Given the description of an element on the screen output the (x, y) to click on. 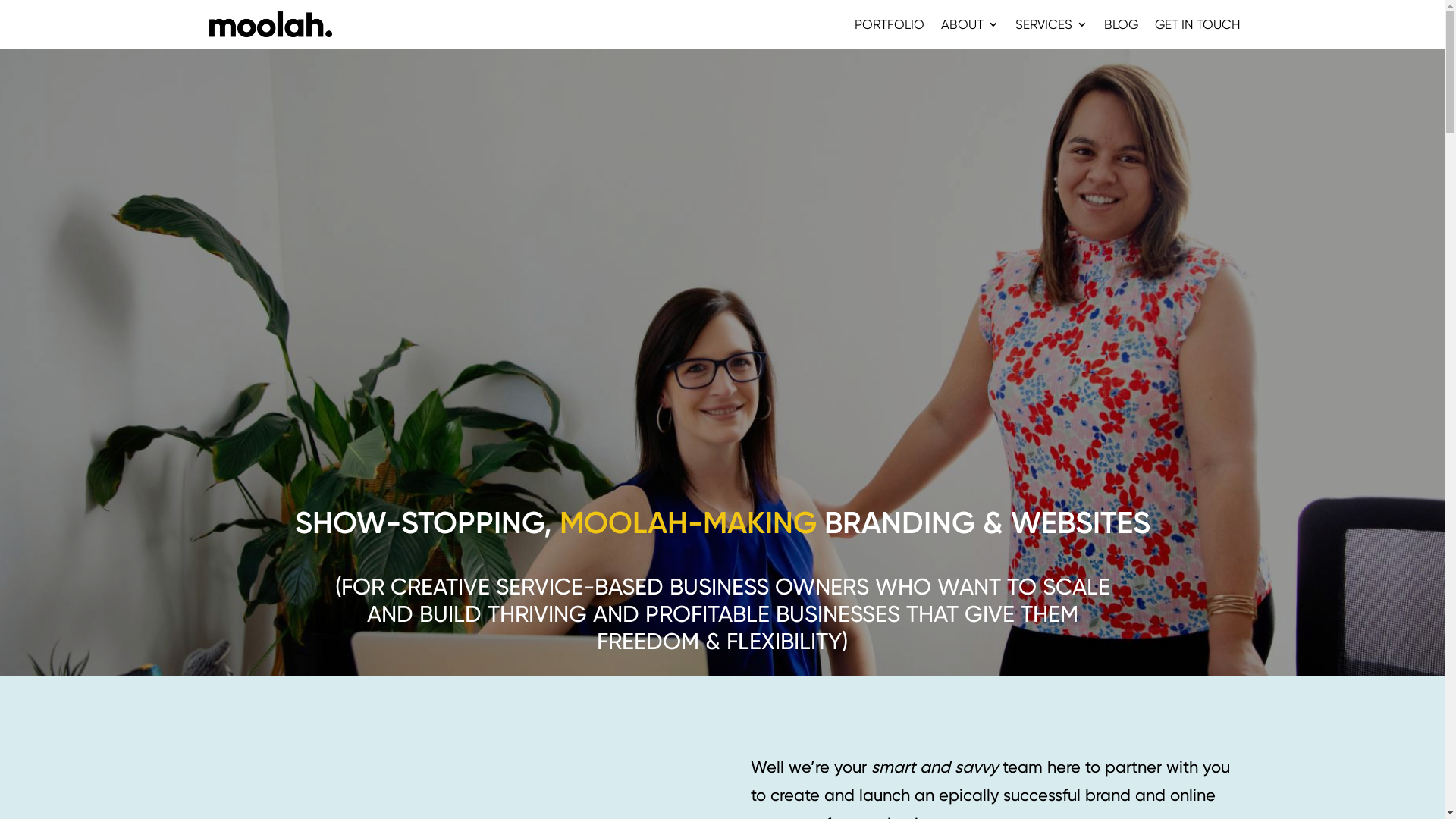
GET IN TOUCH Element type: text (1196, 33)
ABOUT Element type: text (968, 33)
BLOG Element type: text (1121, 33)
SERVICES Element type: text (1050, 33)
PORTFOLIO Element type: text (888, 33)
